Given the description of an element on the screen output the (x, y) to click on. 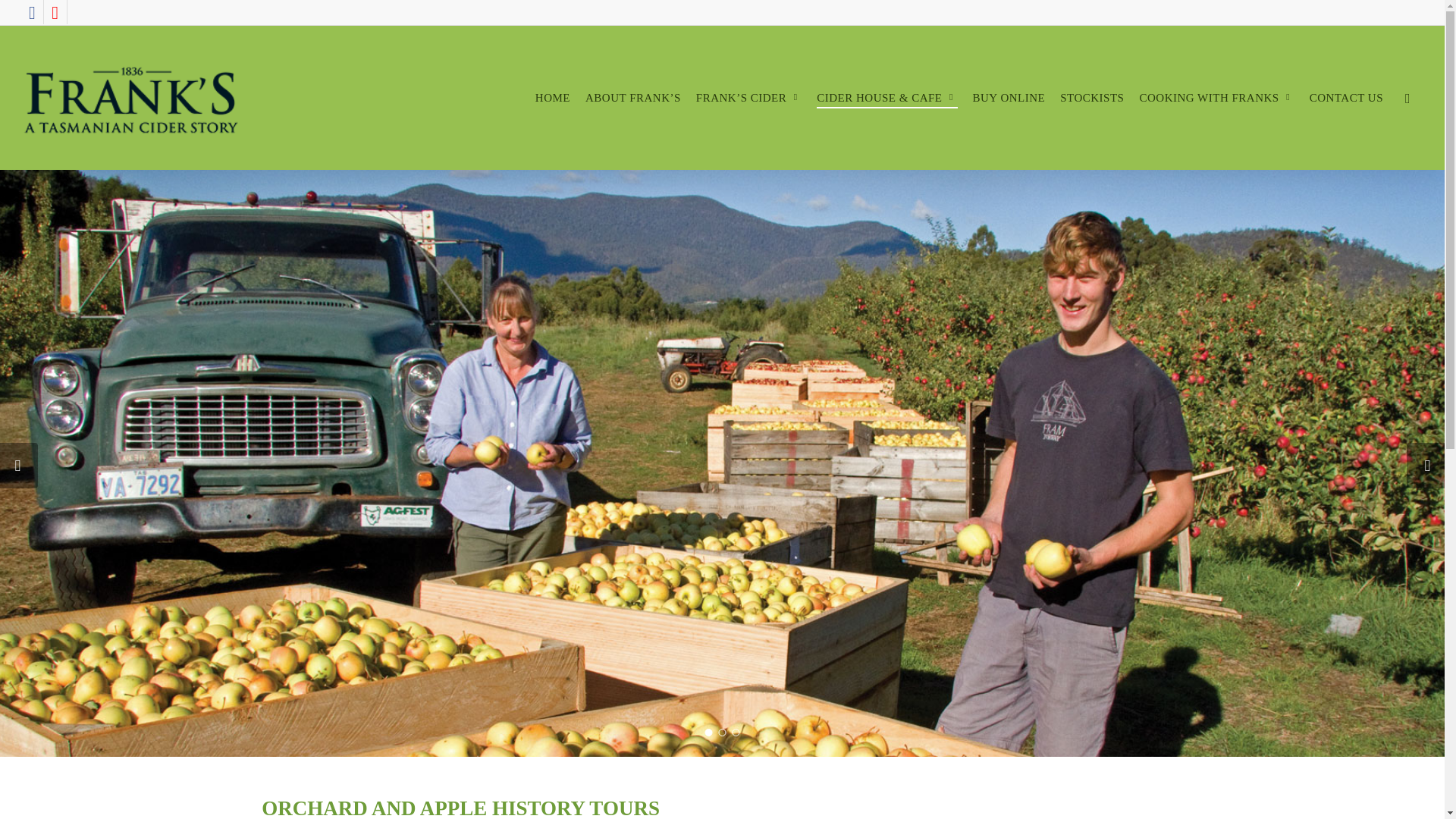
HOME (552, 98)
BUY ONLINE (1008, 98)
COOKING WITH FRANKS (1216, 98)
CONTACT US (1345, 98)
STOCKISTS (1091, 98)
0 (1439, 105)
